Given the description of an element on the screen output the (x, y) to click on. 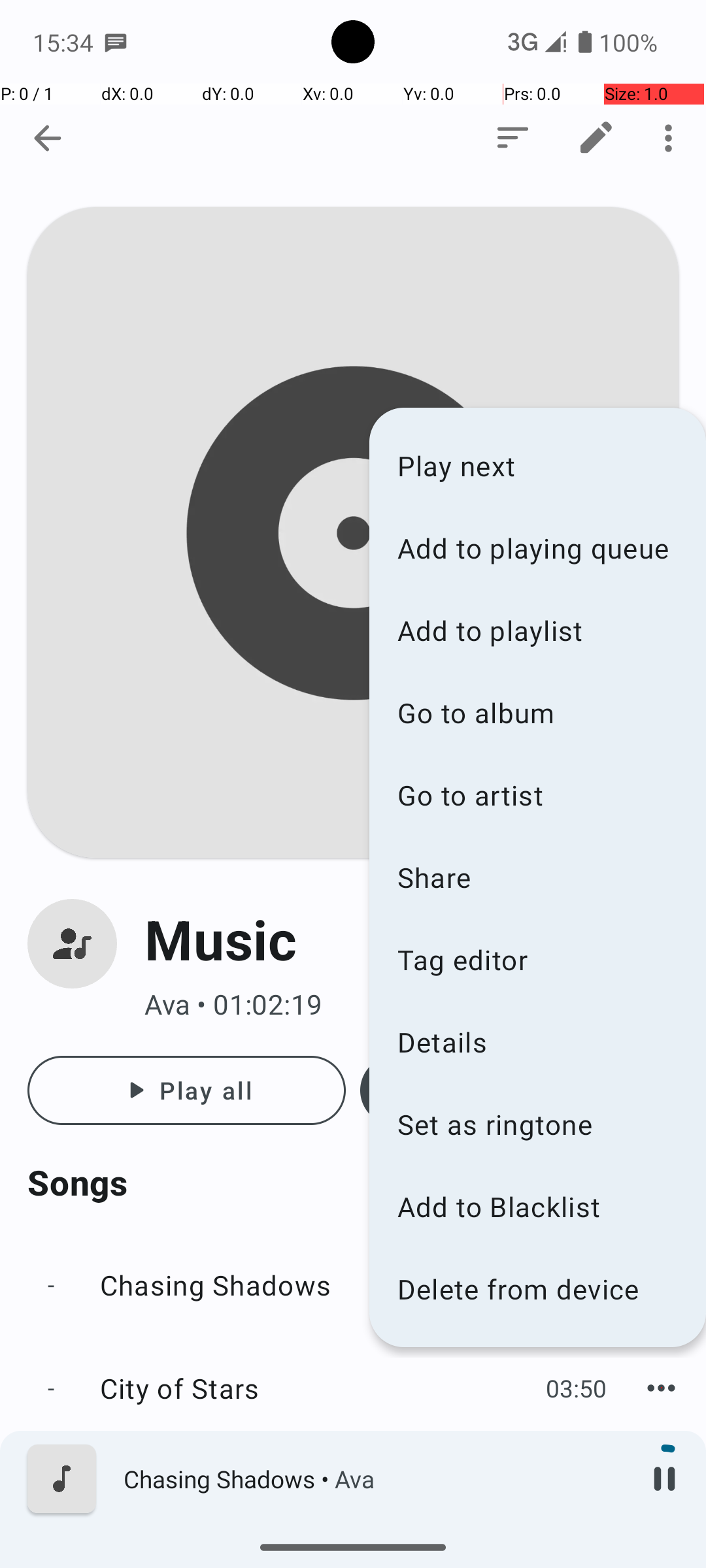
Play next Element type: android.widget.TextView (537, 465)
Add to playing queue Element type: android.widget.TextView (537, 547)
Add to playlist Element type: android.widget.TextView (537, 629)
Go to album Element type: android.widget.TextView (537, 712)
Go to artist Element type: android.widget.TextView (537, 794)
Tag editor Element type: android.widget.TextView (537, 959)
Details Element type: android.widget.TextView (537, 1041)
Set as ringtone Element type: android.widget.TextView (537, 1123)
Add to Blacklist Element type: android.widget.TextView (537, 1206)
Delete from device Element type: android.widget.TextView (537, 1288)
